Given the description of an element on the screen output the (x, y) to click on. 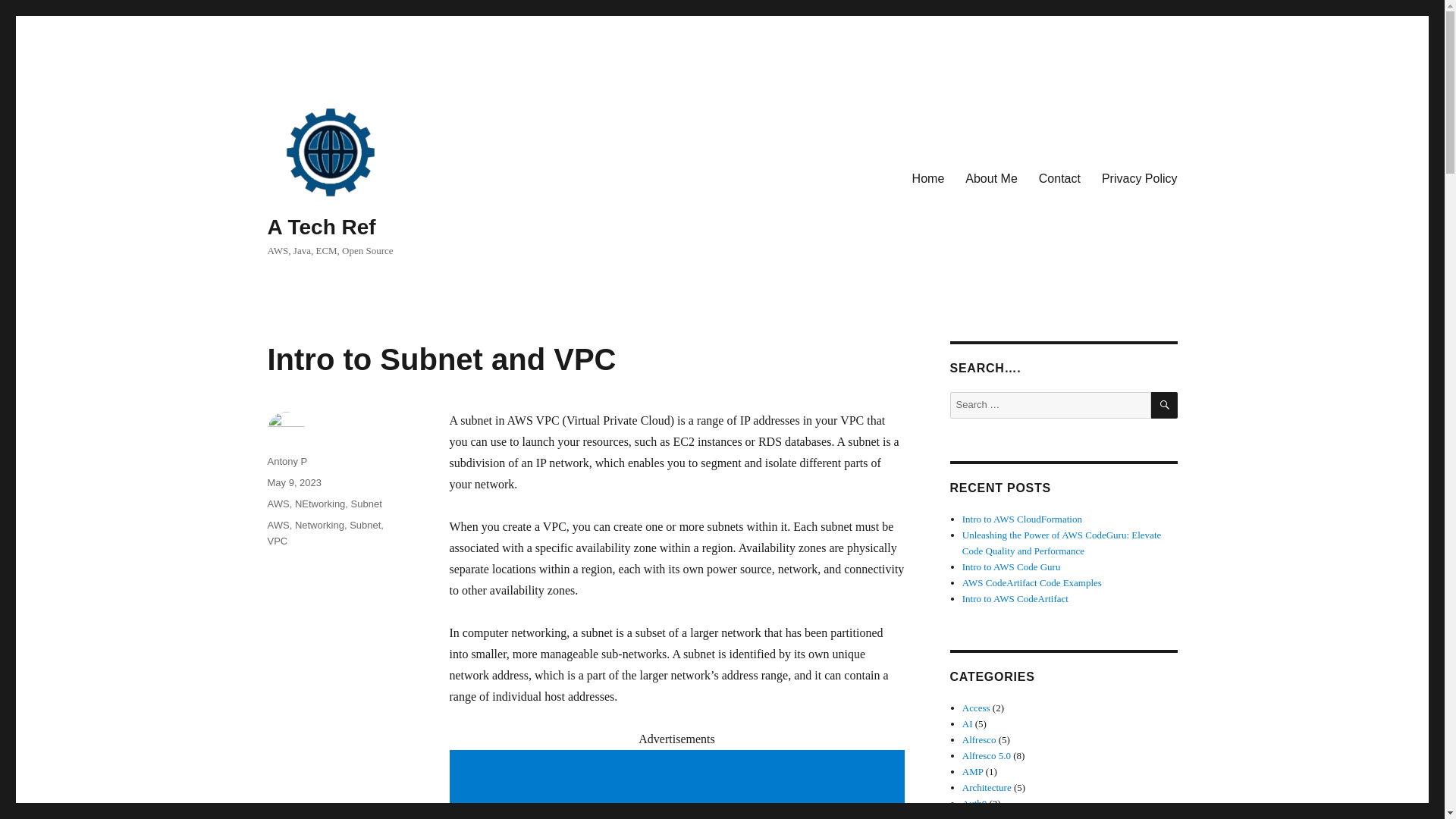
May 9, 2023 (293, 482)
Antony P (286, 460)
About Me (991, 178)
Authentication (991, 816)
Access (976, 707)
AWS (277, 503)
Architecture (986, 787)
Intro to AWS Code Guru (1011, 566)
SEARCH (1164, 405)
Privacy Policy (1139, 178)
